Given the description of an element on the screen output the (x, y) to click on. 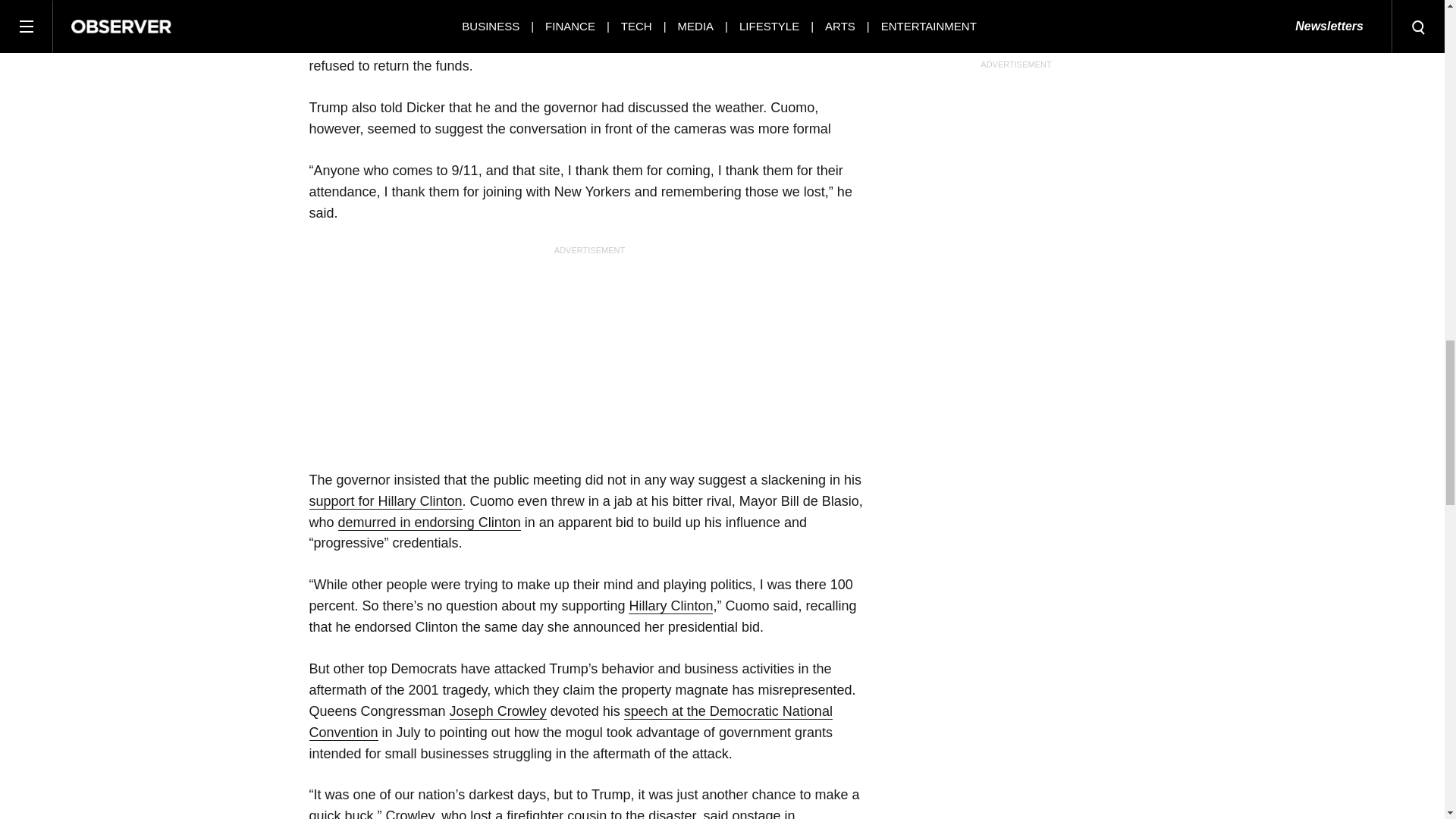
Joseph Crowley (498, 711)
Hillary Clinton (670, 606)
